Given the description of an element on the screen output the (x, y) to click on. 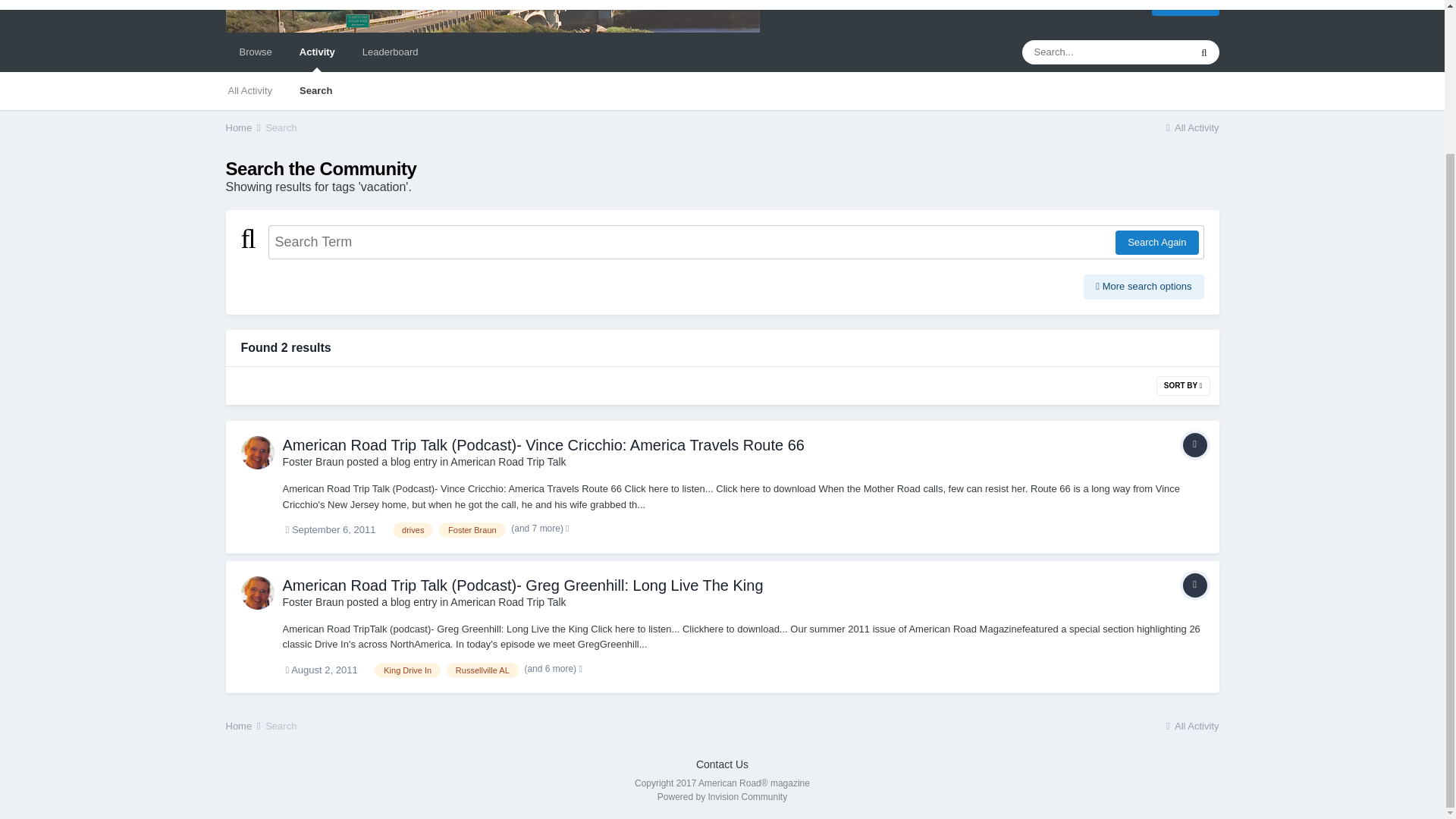
Home (244, 126)
More search options (1143, 286)
Blog Entry (1194, 585)
Browse (255, 52)
Home (244, 126)
Search (280, 126)
Find other content tagged with 'Foster Braun' (472, 529)
Activity (317, 52)
Search Again (1156, 242)
Go to Foster Braun's profile (312, 461)
Existing user? Sign In   (1081, 4)
Leaderboard (390, 52)
All Activity (1190, 126)
Blog Entry (1194, 445)
Sign Up (1184, 7)
